Given the description of an element on the screen output the (x, y) to click on. 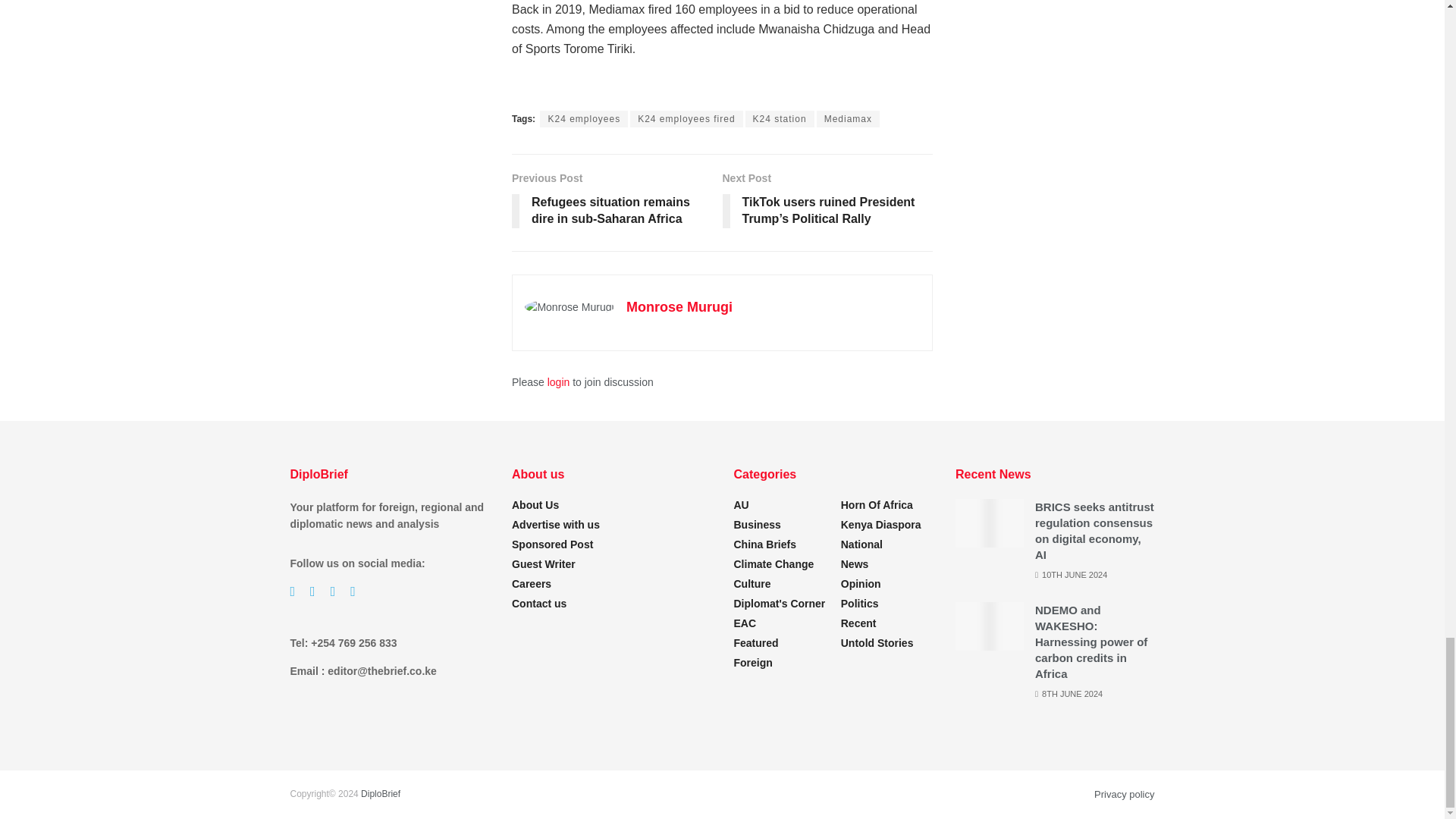
You can add some category description here. (752, 583)
DiploBrief (380, 793)
You can add some category description here. (861, 544)
